Given the description of an element on the screen output the (x, y) to click on. 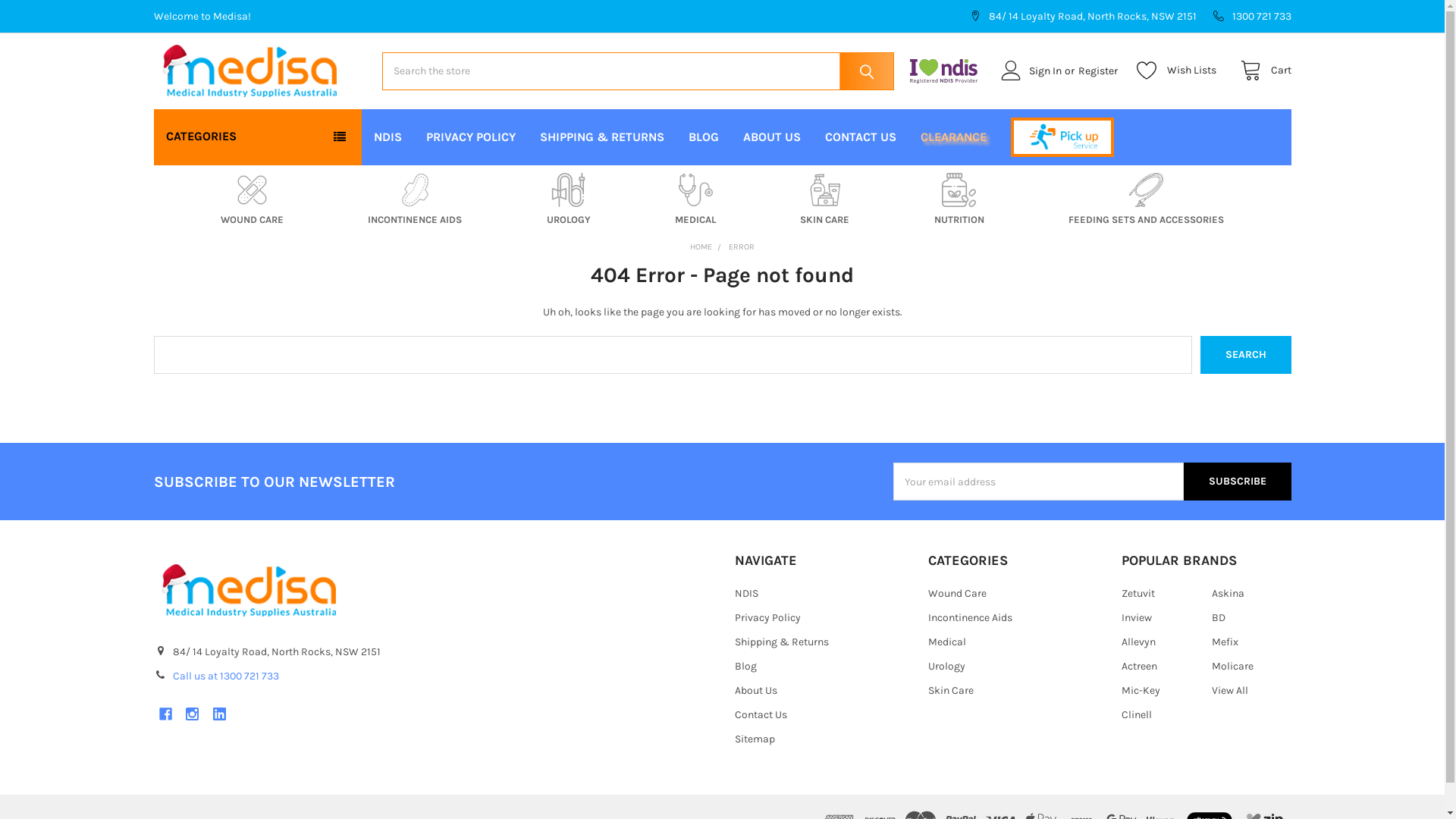
WOUND CARE Element type: text (251, 200)
BLOG Element type: text (703, 136)
Mefix Element type: text (1224, 641)
Facebook Element type: text (164, 713)
Subscribe Element type: text (1237, 481)
Medical Element type: text (947, 641)
Sitemap Element type: text (754, 738)
Molicare Element type: text (1232, 665)
Cart Element type: text (1261, 70)
PRIVACY POLICY Element type: text (470, 136)
Contact Us Element type: text (760, 714)
Zetuvit Element type: text (1137, 592)
MEDICAL Element type: text (695, 200)
Instagram Element type: text (191, 713)
Wound Care Element type: text (957, 592)
Linkedin Element type: text (219, 713)
CLEARANCE Element type: text (953, 136)
Skin Care Element type: text (950, 690)
ERROR Element type: text (741, 246)
Search Element type: text (862, 71)
NDIS Element type: text (745, 592)
INCONTINENCE AIDS Element type: text (414, 200)
Top of Page Element type: hover (1417, 768)
View All Element type: text (1229, 690)
HOME Element type: text (701, 246)
CONTACT US Element type: text (860, 136)
Incontinence Aids Element type: text (970, 617)
Askina Element type: text (1227, 592)
FEEDING SETS AND ACCESSORIES Element type: text (1146, 200)
NDIS Element type: text (387, 136)
Shipping & Returns Element type: text (781, 641)
Call us at 1300 721 733 Element type: text (225, 675)
CATEGORIES Element type: text (256, 136)
Sign In Element type: text (1031, 70)
UROLOGY Element type: text (568, 200)
SHIPPING & RETURNS Element type: text (601, 136)
Mic-Key Element type: text (1140, 690)
1300 721 733 Element type: text (1247, 16)
Search Element type: text (1245, 354)
ABOUT US Element type: text (771, 136)
Medisa Element type: hover (249, 70)
Clinell Element type: text (1136, 714)
SKIN CARE Element type: text (824, 200)
Urology Element type: text (946, 665)
Allevyn Element type: text (1138, 641)
BD Element type: text (1218, 617)
NUTRITION Element type: text (959, 200)
Actreen Element type: text (1139, 665)
Blog Element type: text (745, 665)
Privacy Policy Element type: text (767, 617)
About Us Element type: text (755, 690)
Wish Lists Element type: text (1180, 70)
Inview Element type: text (1136, 617)
Medisa Element type: hover (247, 590)
Register Element type: text (1105, 70)
